Given the description of an element on the screen output the (x, y) to click on. 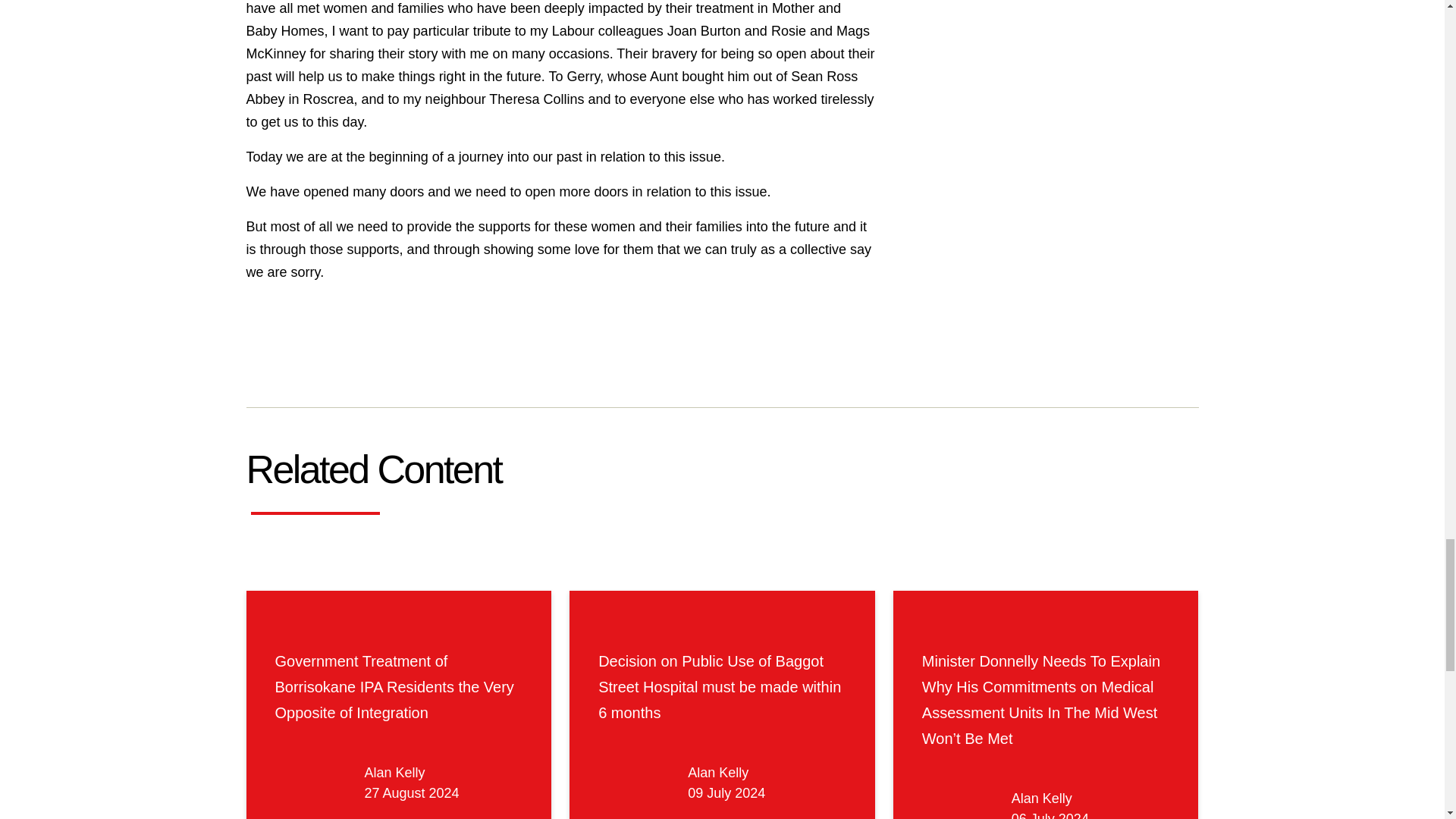
Alan Kelly (394, 772)
Alan Kelly (1041, 798)
Alan Kelly (717, 772)
